Given the description of an element on the screen output the (x, y) to click on. 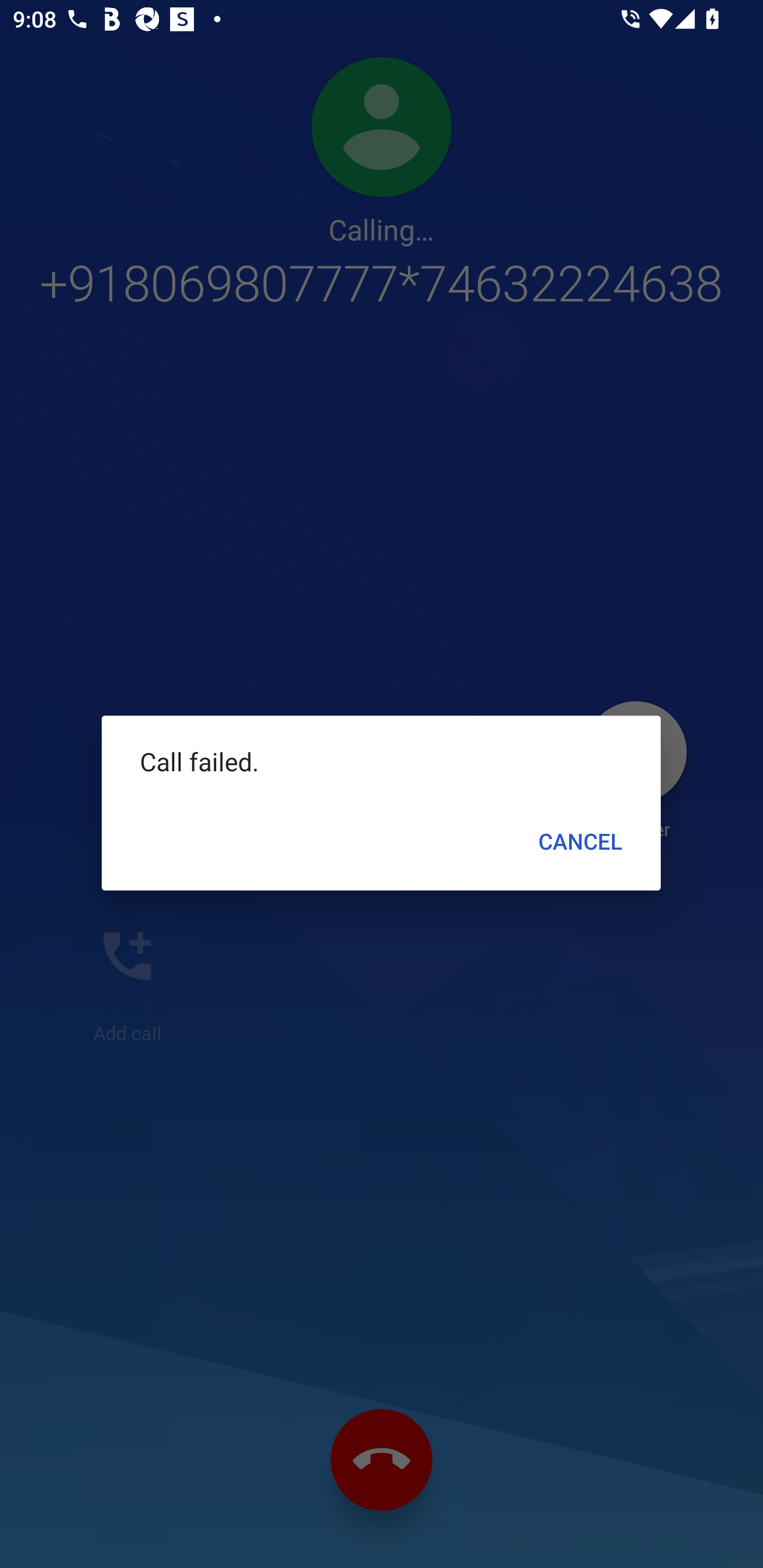
CANCEL (580, 841)
